Given the description of an element on the screen output the (x, y) to click on. 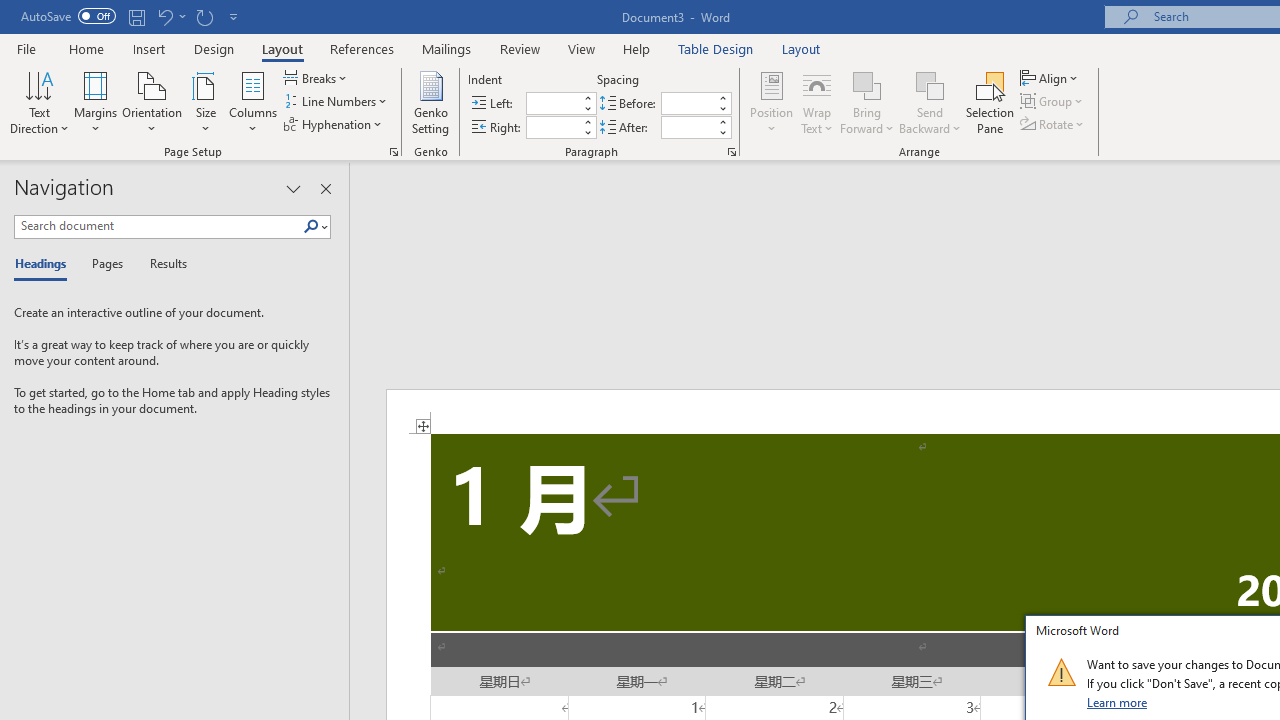
Position (771, 102)
Send Backward (930, 102)
Spacing After (687, 127)
Size (205, 102)
Indent Right (552, 127)
Orientation (152, 102)
Align (1051, 78)
